Given the description of an element on the screen output the (x, y) to click on. 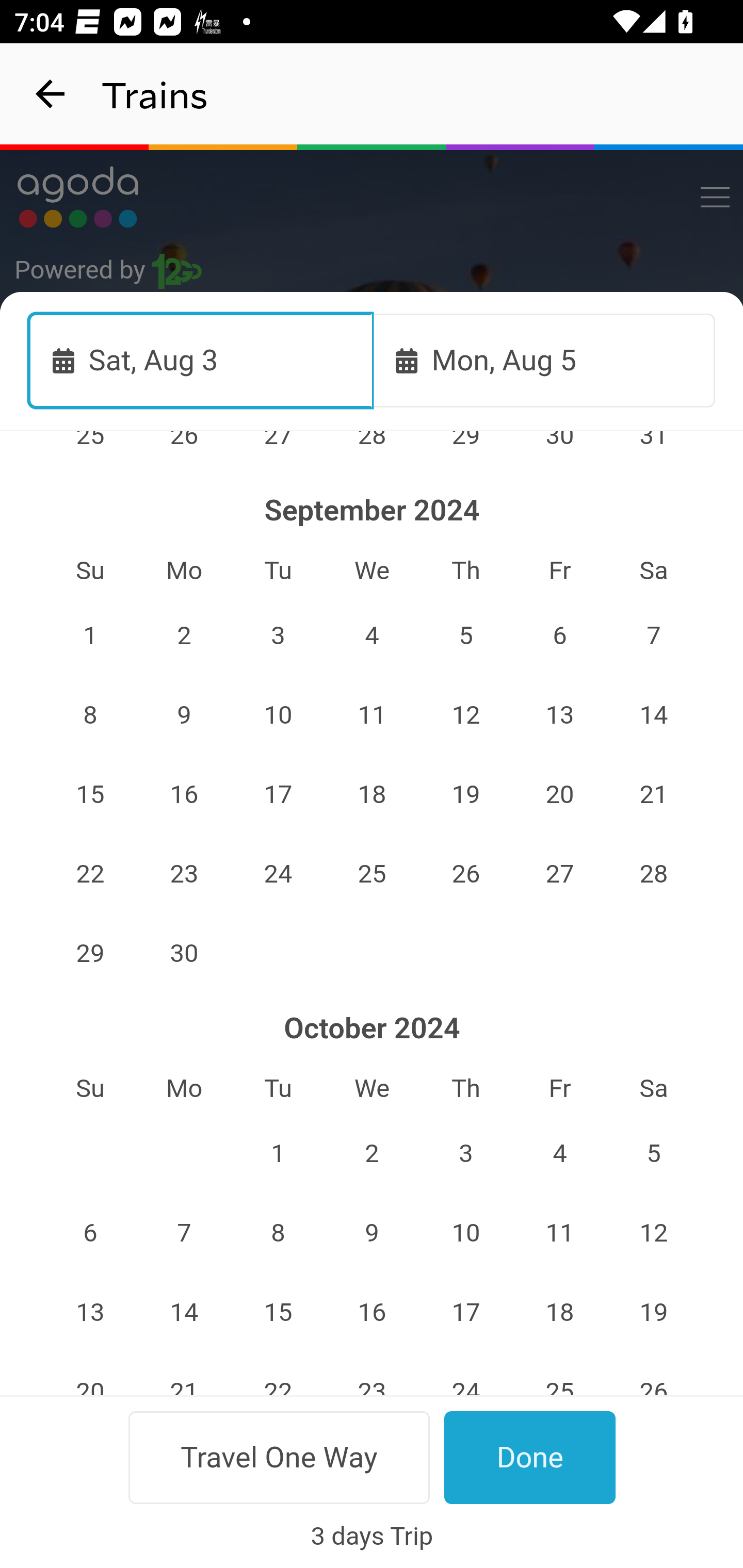
navigation_button (50, 93)
Sat, Aug 3 (200, 359)
Mon, Aug 5 (544, 359)
Leeds Swap trip points (372, 576)
1 (90, 635)
2 (184, 635)
3 (278, 635)
4 (372, 635)
5 (465, 635)
6 (559, 635)
7 (654, 635)
8 (90, 715)
9 (184, 715)
10 (278, 715)
11 (372, 715)
12 (465, 715)
13 (559, 715)
14 (654, 715)
15 (90, 793)
16 (184, 793)
17 (278, 793)
18 (372, 793)
19 (465, 793)
20 (559, 793)
21 (654, 793)
22 (90, 873)
23 (184, 873)
24 (278, 873)
25 (372, 873)
26 (465, 873)
27 (559, 873)
28 (654, 873)
29 (90, 953)
30 (184, 953)
1 (278, 1152)
2 (372, 1152)
3 (465, 1152)
4 (559, 1152)
5 (654, 1152)
6 (90, 1232)
7 (184, 1232)
8 (278, 1232)
9 (372, 1232)
10 (465, 1232)
11 (559, 1232)
12 (654, 1232)
13 (90, 1311)
14 (184, 1311)
15 (278, 1311)
16 (372, 1311)
